Given the description of an element on the screen output the (x, y) to click on. 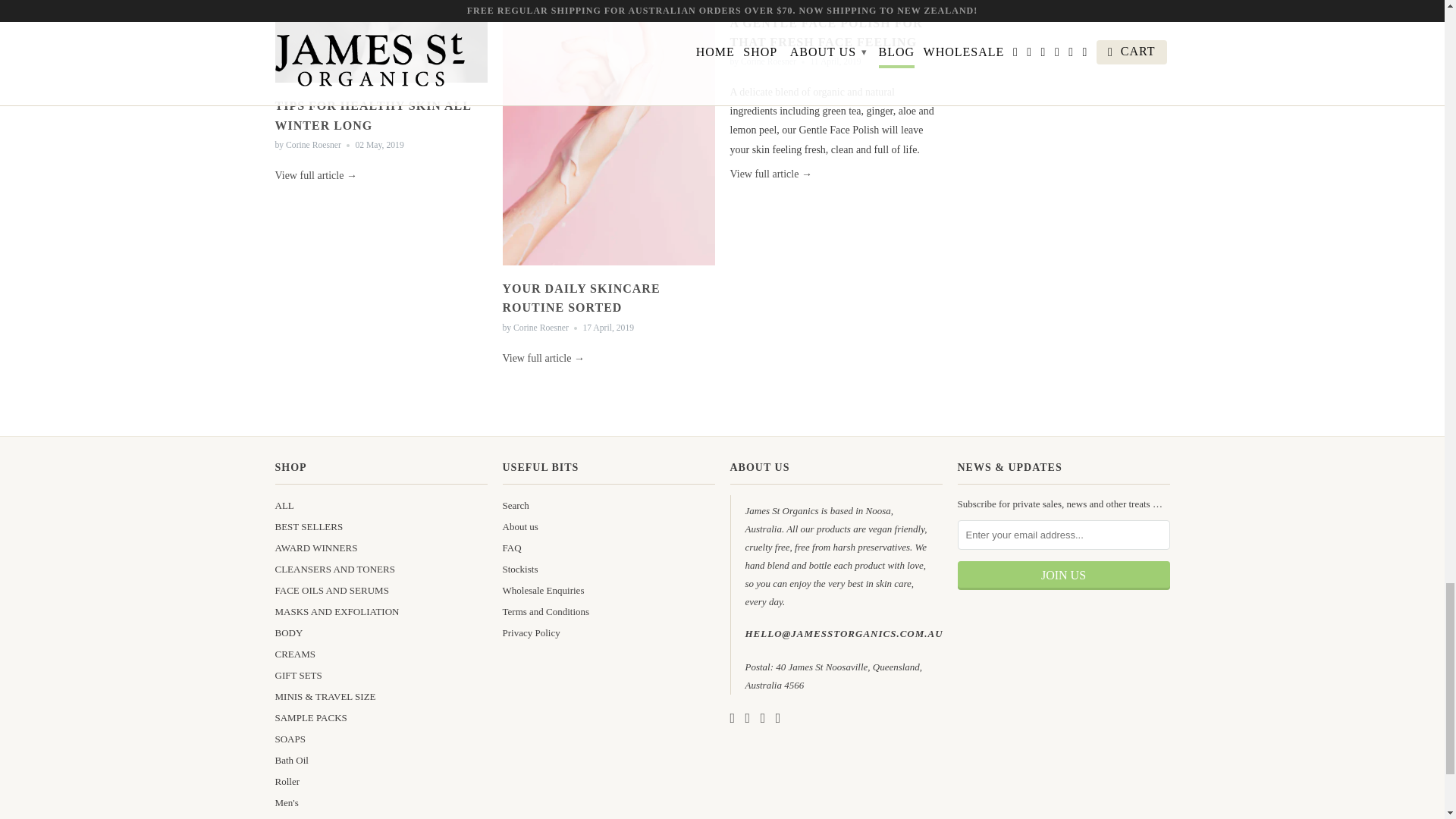
Your Daily Skincare Routine Sorted (580, 297)
Tips for healthy skin all winter long (315, 174)
Tips for healthy skin all winter long (380, 86)
Join us (1062, 575)
Tips for healthy skin all winter long (372, 115)
Your Daily Skincare Routine Sorted (542, 357)
Your Daily Skincare Routine Sorted (608, 269)
